Given the description of an element on the screen output the (x, y) to click on. 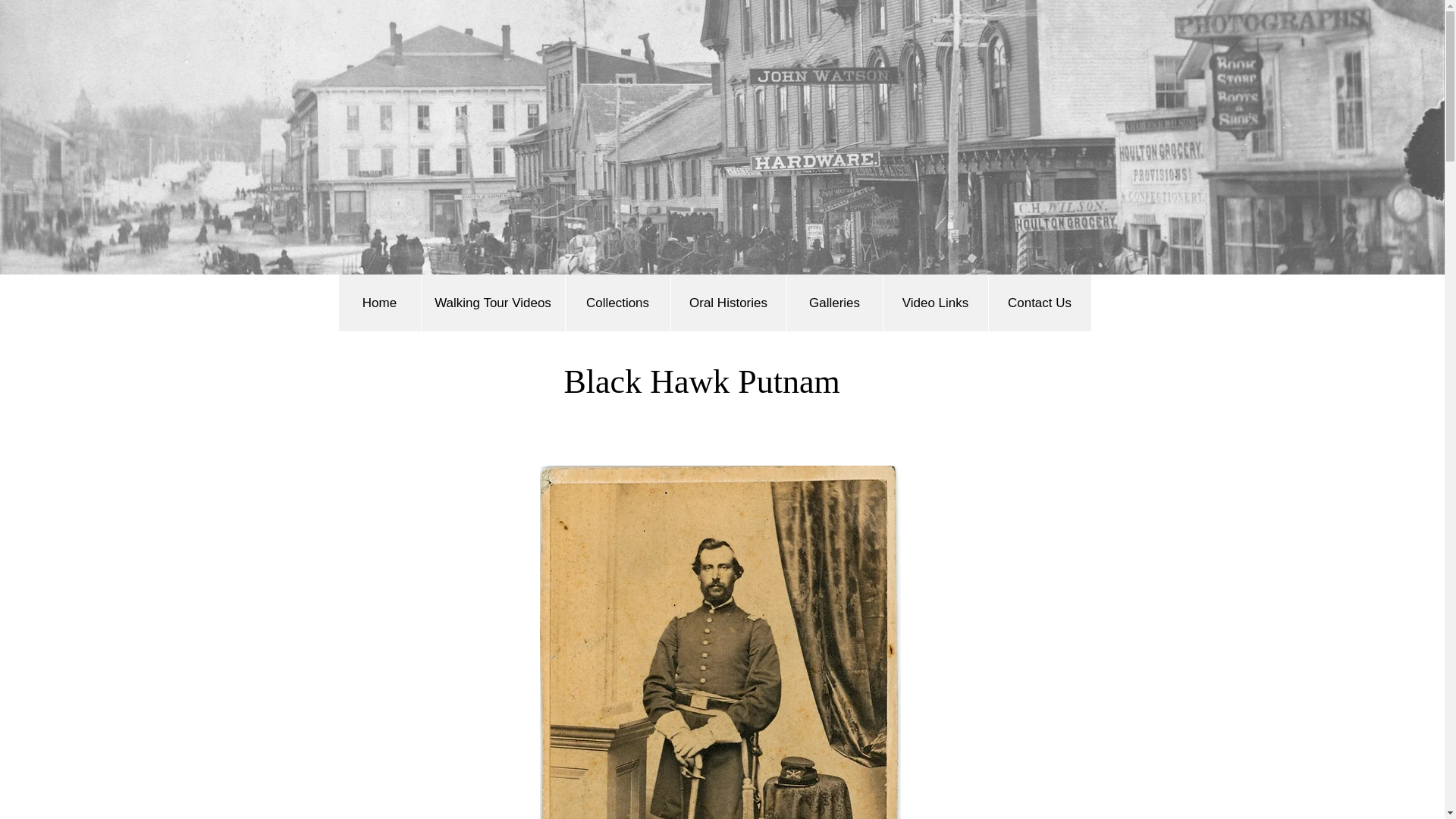
Walking Tour Videos (492, 302)
Home (378, 302)
Galleries (834, 302)
Oral Histories (727, 302)
Collections (616, 302)
